Given the description of an element on the screen output the (x, y) to click on. 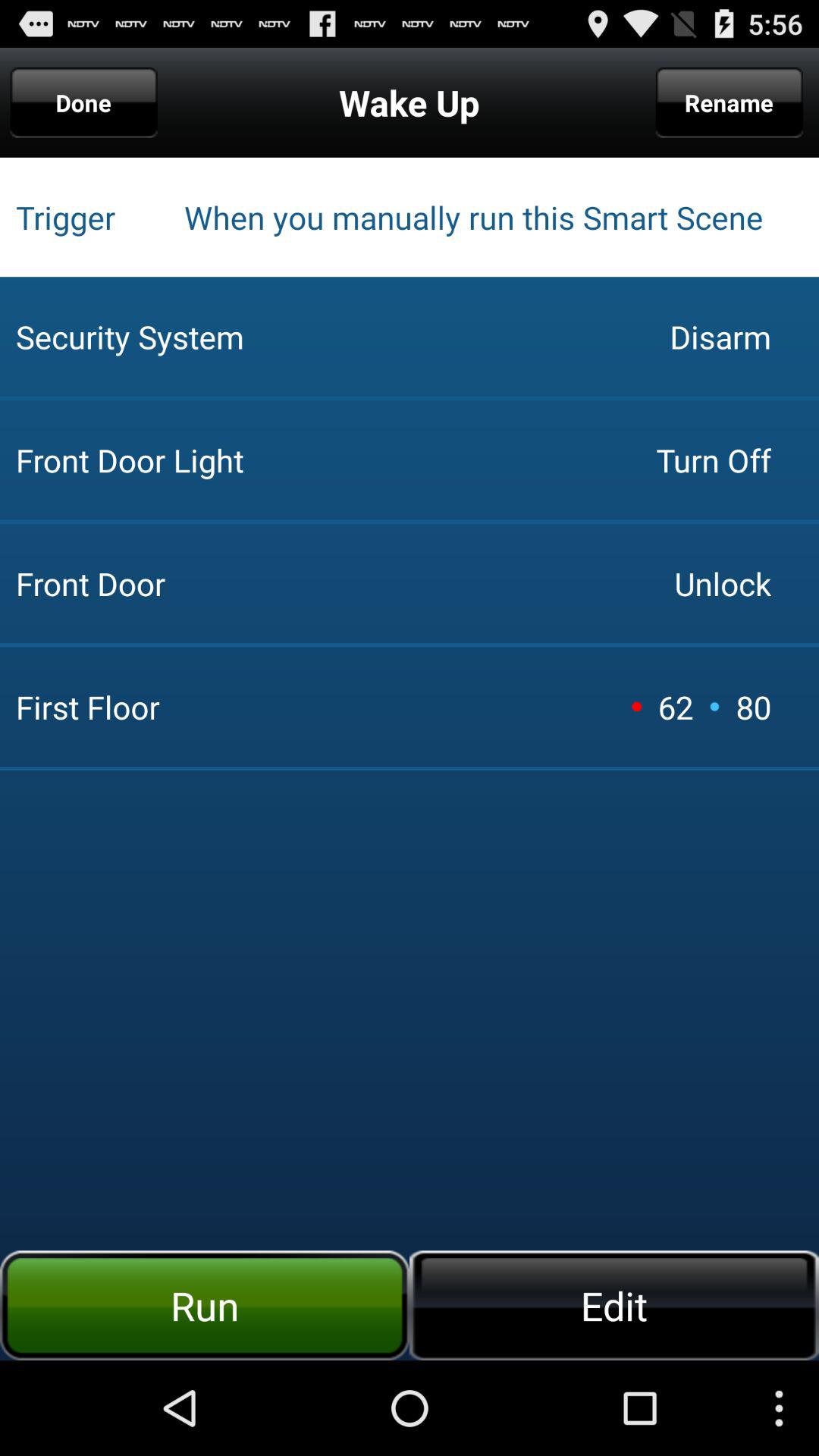
tap icon below trigger (329, 336)
